Given the description of an element on the screen output the (x, y) to click on. 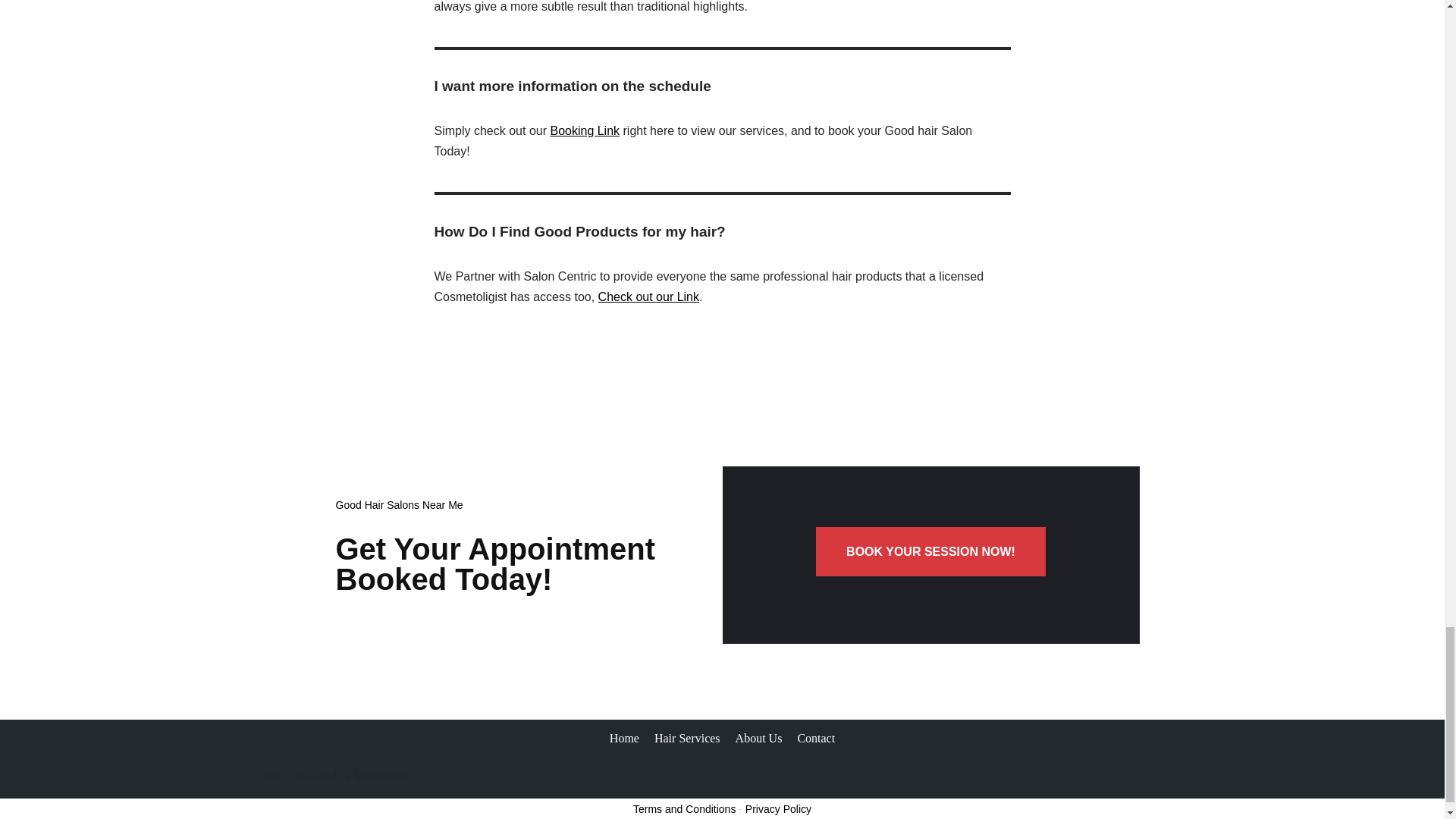
Check out our Link (648, 296)
Booking Link (585, 130)
